Given the description of an element on the screen output the (x, y) to click on. 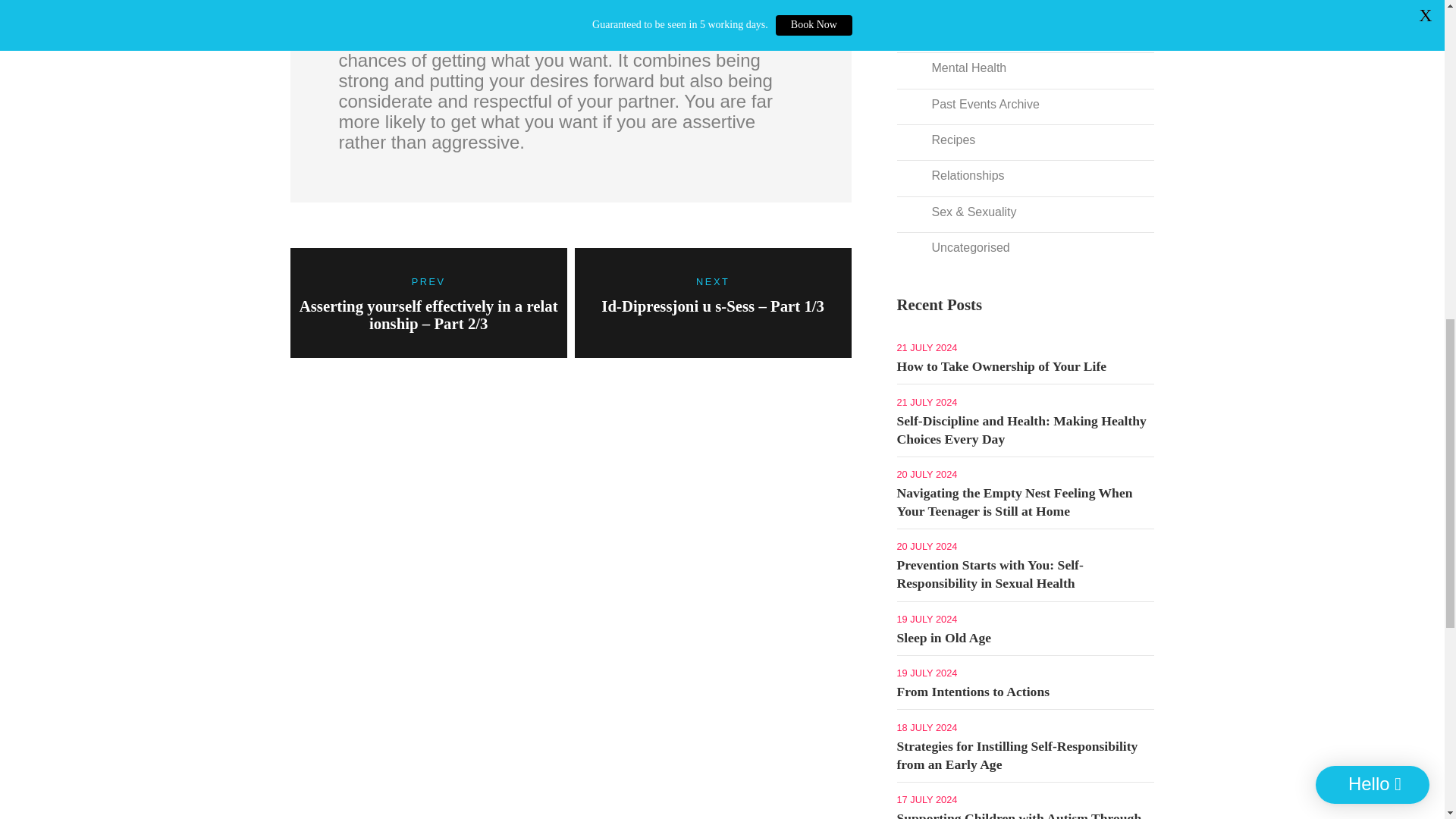
Mental Health (962, 64)
Media (940, 29)
Recipes (946, 137)
Relationships (961, 172)
Life Coaching (962, 2)
Past Events Archive (978, 101)
